Given the description of an element on the screen output the (x, y) to click on. 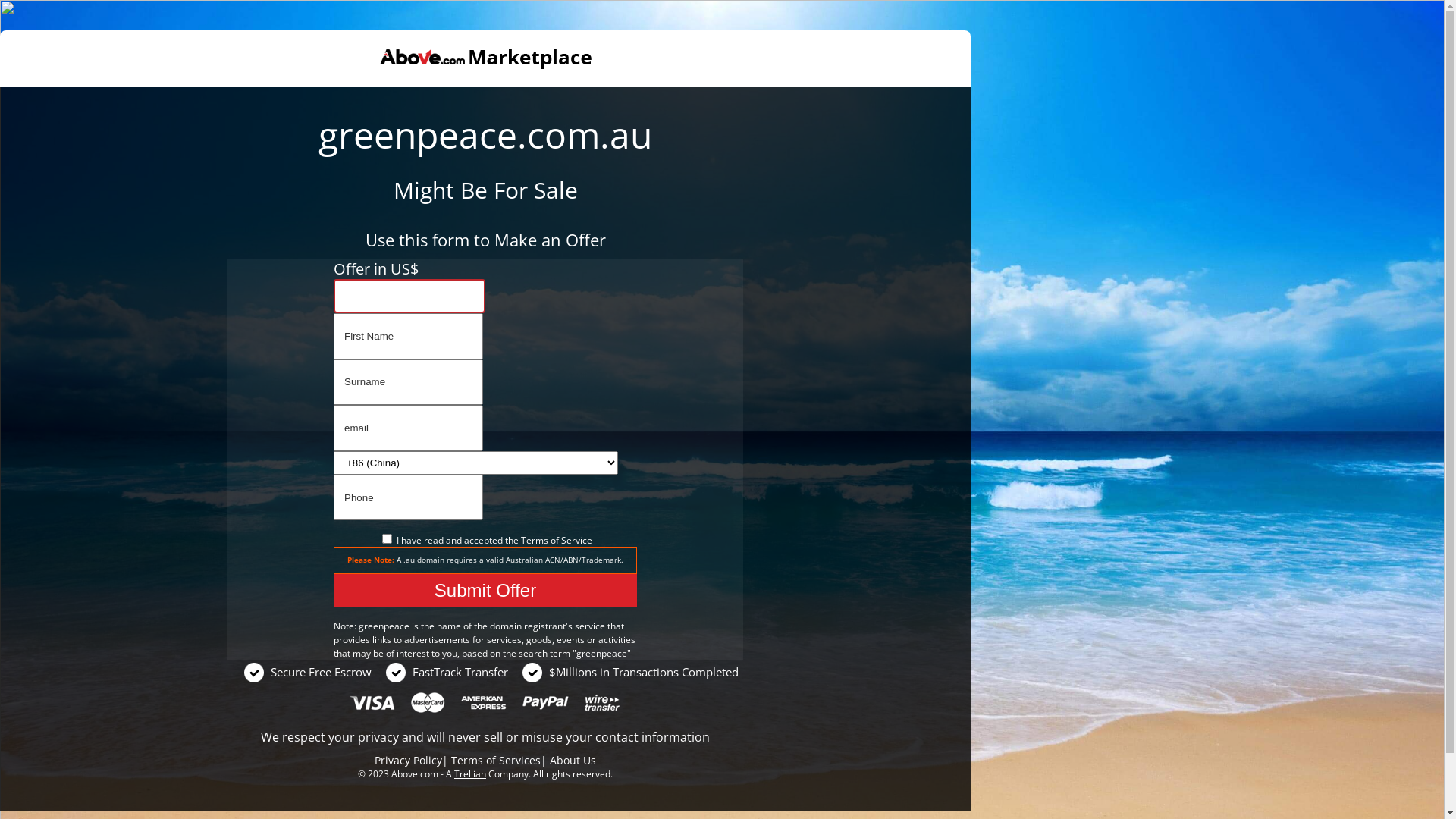
Privacy Policy Element type: text (408, 760)
About Us Element type: text (572, 760)
Trellian Element type: text (470, 773)
Terms of Services Element type: text (495, 760)
Submit Offer Element type: text (485, 590)
Terms Element type: text (533, 539)
